Given the description of an element on the screen output the (x, y) to click on. 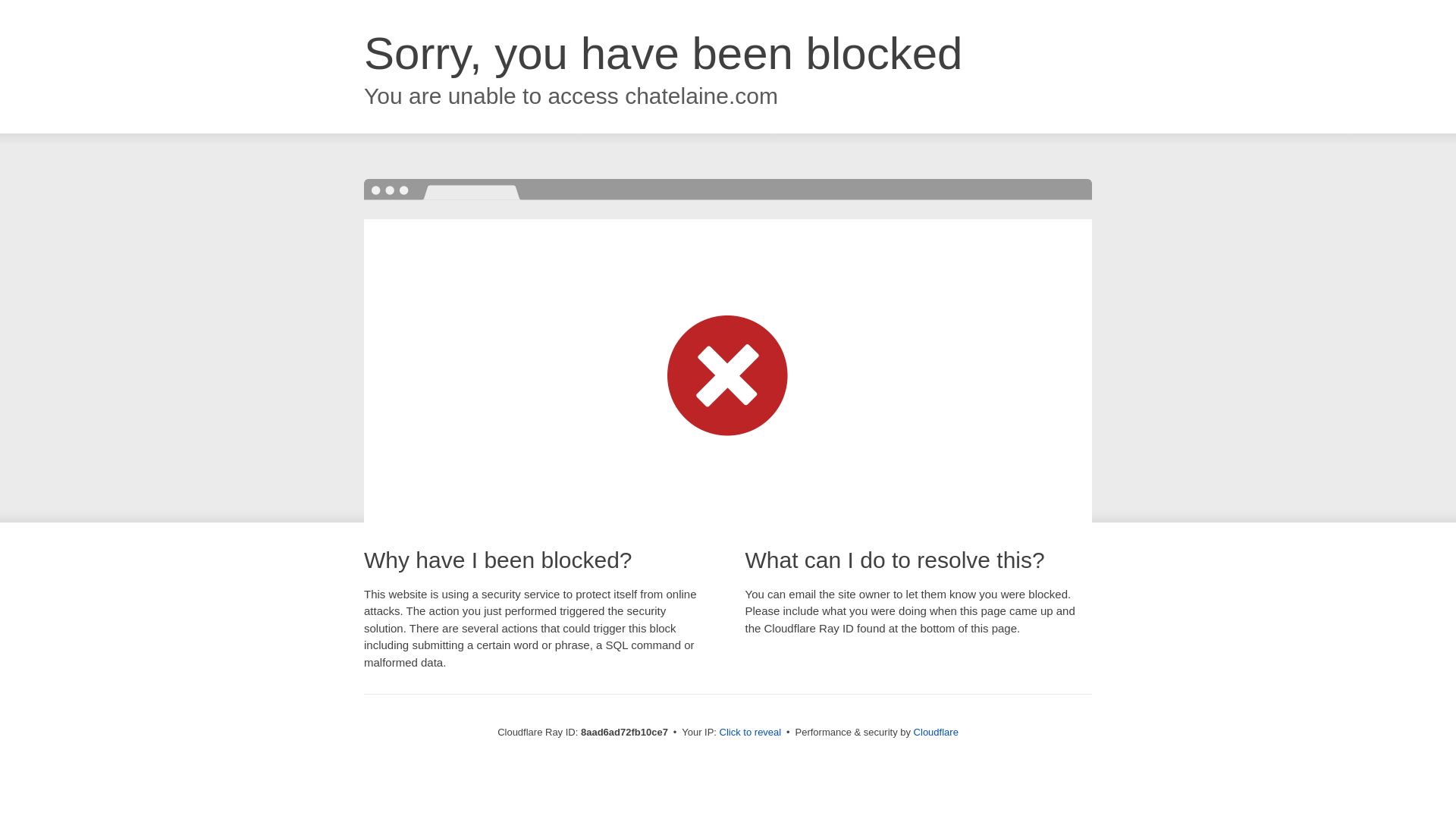
Click to reveal (750, 732)
Cloudflare (936, 731)
